Given the description of an element on the screen output the (x, y) to click on. 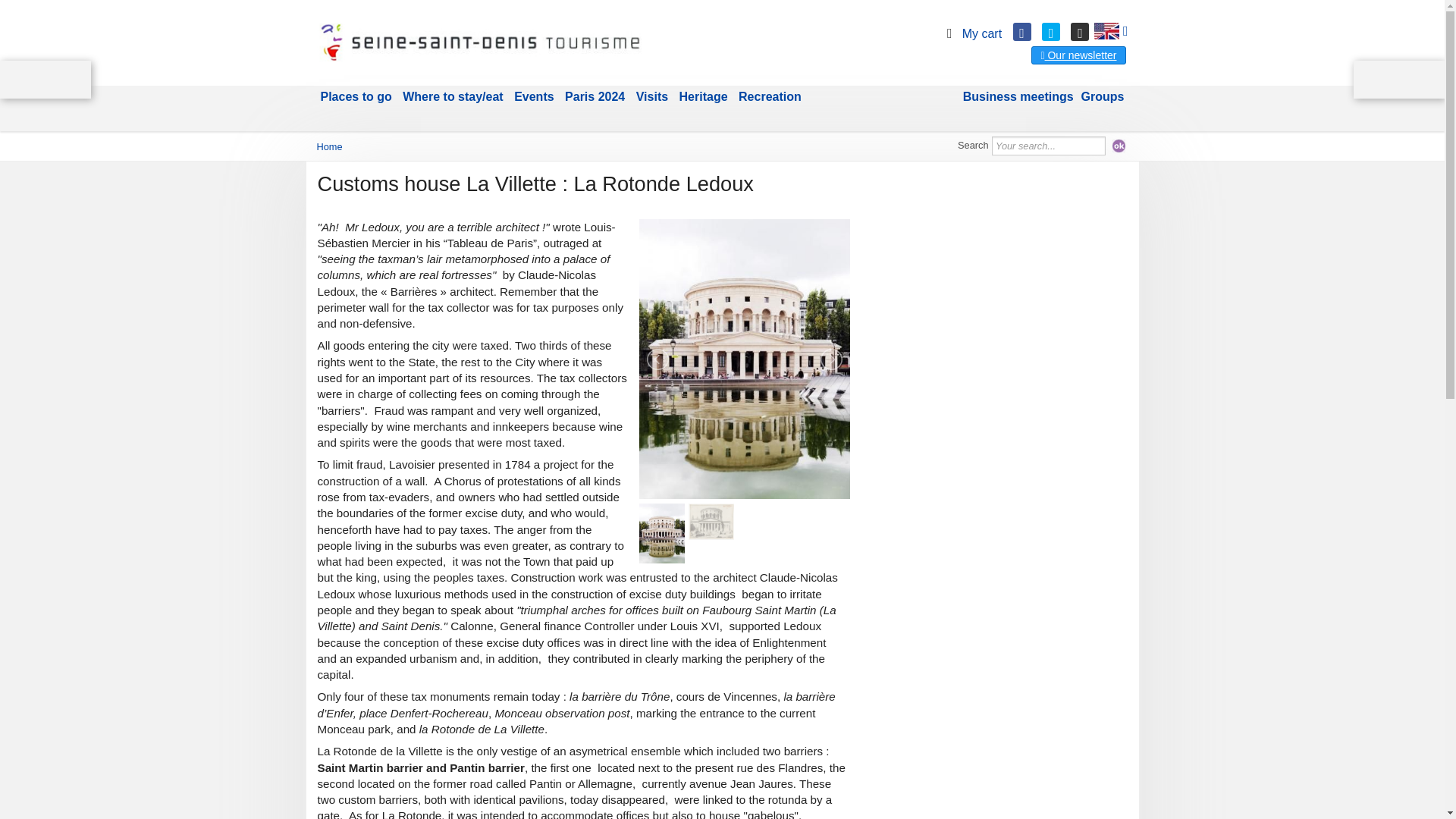
Paris 2024 (594, 96)
Places to go (356, 96)
 My cart (970, 33)
Events (534, 96)
Our newsletter (1077, 54)
